Given the description of an element on the screen output the (x, y) to click on. 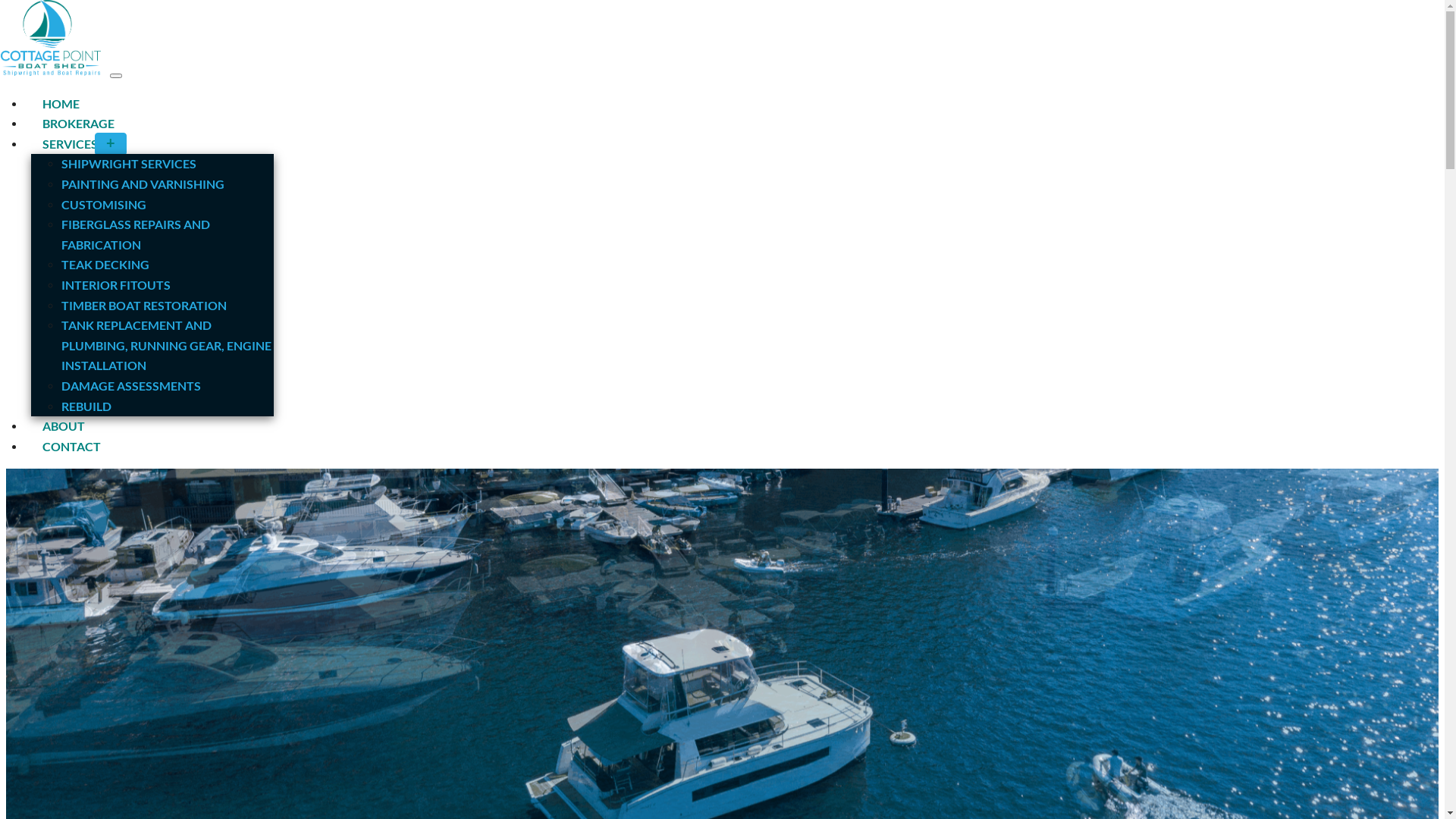
HOME Element type: text (61, 103)
FIBERGLASS REPAIRS AND FABRICATION Element type: text (135, 233)
REBUILD Element type: text (86, 405)
CONTACT Element type: text (71, 445)
PAINTING AND VARNISHING Element type: text (142, 183)
SERVICES Element type: text (82, 143)
SHIPWRIGHT SERVICES Element type: text (128, 163)
DAMAGE ASSESSMENTS Element type: text (130, 385)
CUSTOMISING Element type: text (103, 204)
TIMBER BOAT RESTORATION Element type: text (143, 305)
ABOUT Element type: text (63, 425)
TEAK DECKING Element type: text (105, 264)
INTERIOR FITOUTS Element type: text (115, 284)
BROKERAGE Element type: text (78, 122)
